Given the description of an element on the screen output the (x, y) to click on. 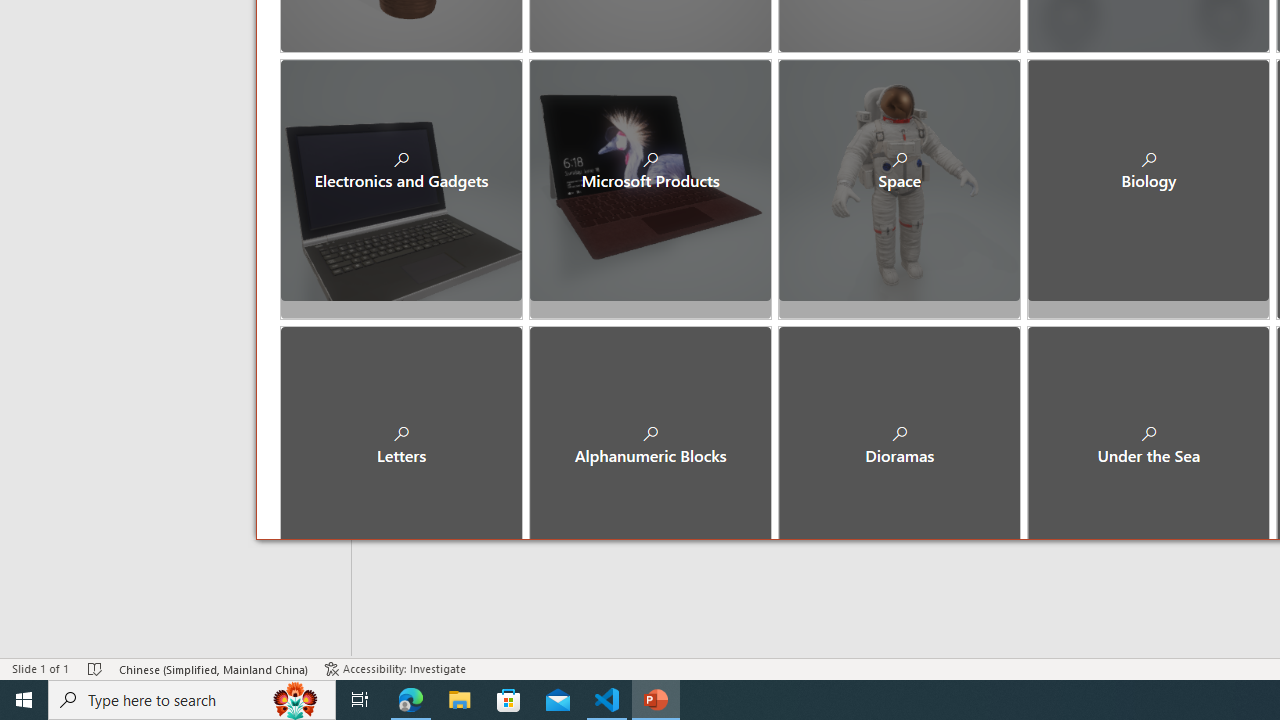
Biology (1147, 179)
Dioramas (899, 429)
Electronics and Gadgets (401, 179)
Microsoft Products (649, 179)
Letters (401, 429)
Alphanumeric Blocks (649, 429)
